Given the description of an element on the screen output the (x, y) to click on. 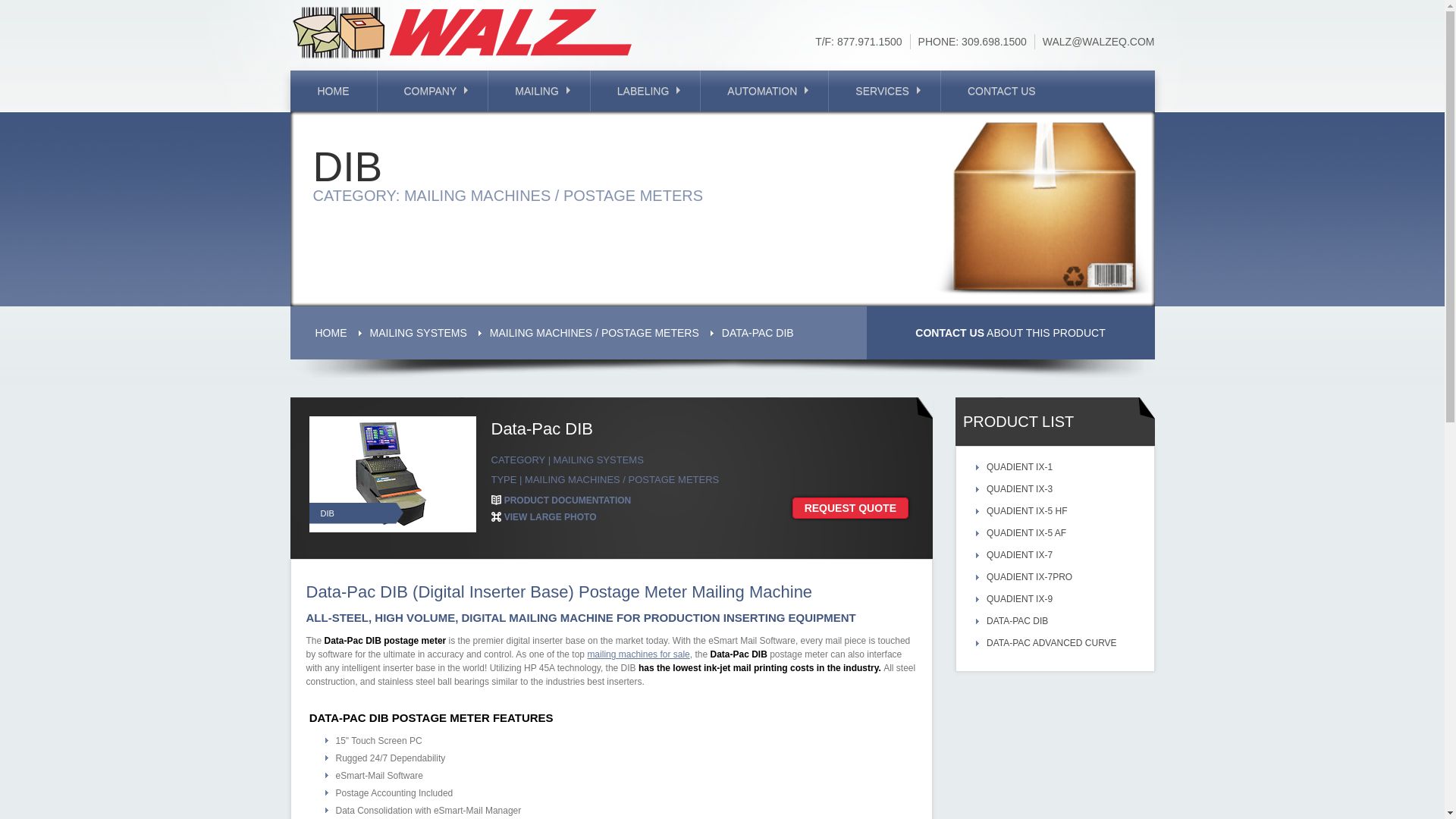
Data-Pac DIB (549, 516)
MAILING (538, 90)
HOME (333, 90)
COMPANY (432, 90)
